Given the description of an element on the screen output the (x, y) to click on. 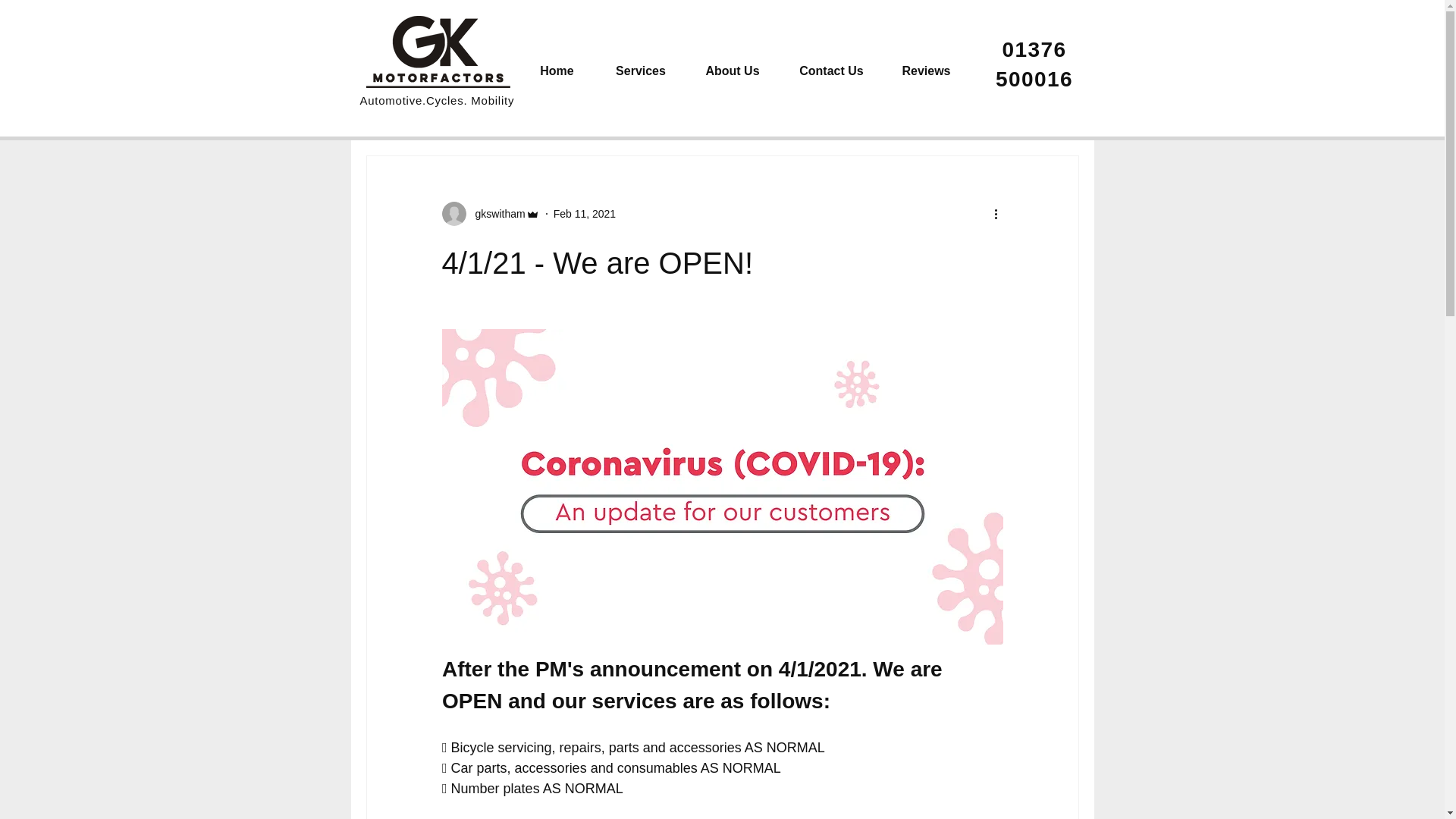
Automotive.Cycles. Mobility (436, 100)
Reviews (925, 70)
Gk's Logo (437, 51)
About Us (732, 70)
Contact Us (830, 70)
Home (555, 70)
gkswitham (494, 213)
Services (639, 70)
Feb 11, 2021 (584, 214)
